Given the description of an element on the screen output the (x, y) to click on. 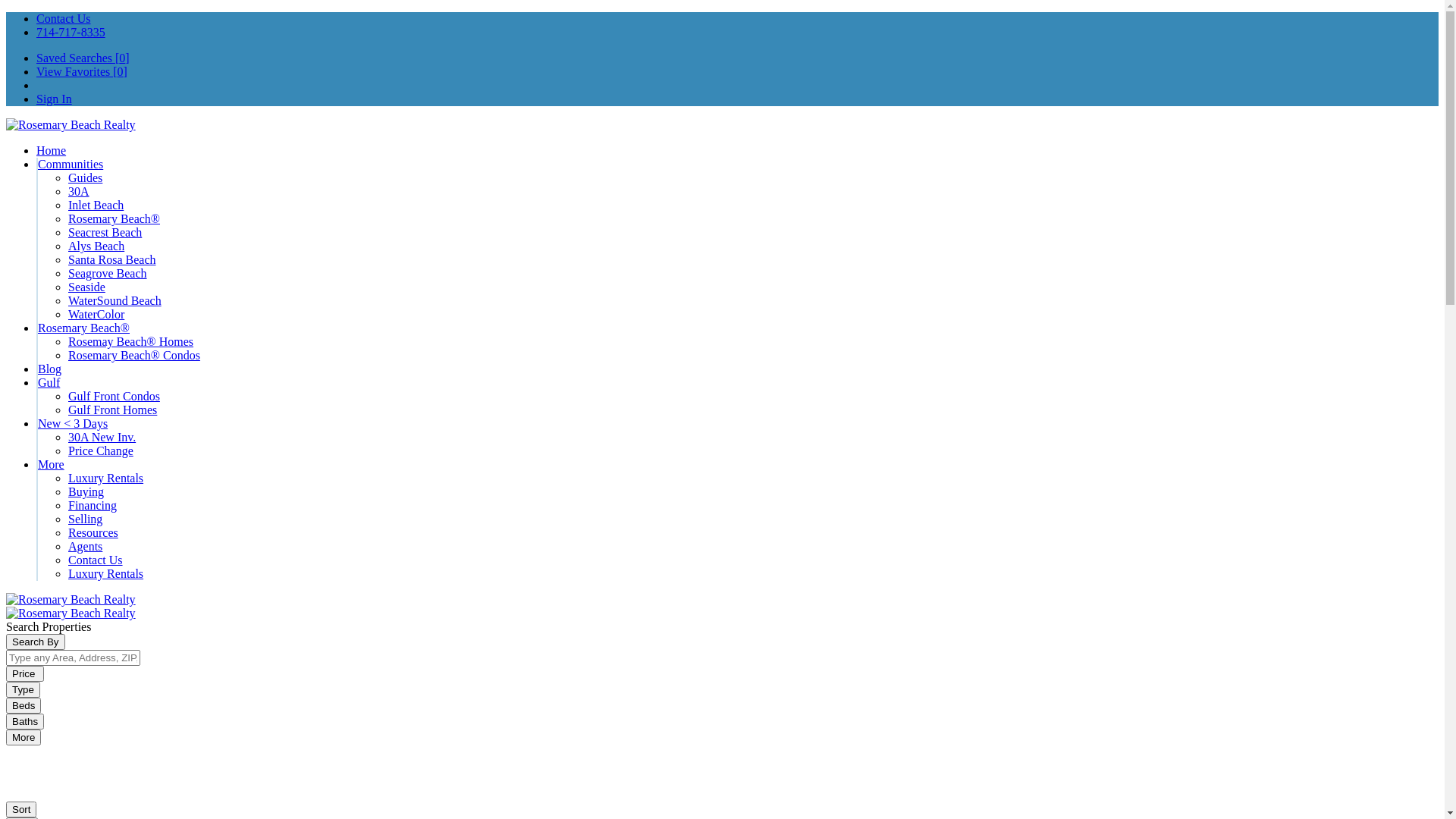
Sign In Element type: text (54, 98)
Seacrest Beach Element type: text (104, 231)
30A New Inv. Element type: text (101, 436)
View Favorites [0] Element type: text (81, 71)
Price  Element type: text (24, 673)
Type Element type: text (23, 689)
Gulf Front Homes Element type: text (112, 409)
More Element type: text (50, 464)
Seaside Element type: text (86, 286)
Contact Us Element type: text (95, 559)
Seagrove Beach Element type: text (107, 272)
Gulf Front Condos Element type: text (114, 395)
Home Element type: text (50, 150)
Financing Element type: text (92, 504)
Resources Element type: text (93, 532)
Luxury Rentals Element type: text (105, 573)
714-717-8335 Element type: text (70, 31)
Blog Element type: text (49, 368)
Beds Element type: text (23, 705)
Selling Element type: text (85, 518)
Luxury Rentals Element type: text (105, 477)
Santa Rosa Beach Element type: text (112, 259)
Buying Element type: text (85, 491)
Sort Element type: text (21, 809)
Communities Element type: text (70, 163)
Price Change Element type: text (100, 450)
WaterSound Beach Element type: text (114, 300)
Alys Beach Element type: text (96, 245)
New < 3 Days Element type: text (72, 423)
Baths Element type: text (24, 721)
Search By Element type: text (35, 641)
More Element type: text (23, 737)
Saved Searches [0] Element type: text (82, 57)
WaterColor Element type: text (96, 313)
Gulf Element type: text (48, 382)
Inlet Beach Element type: text (95, 204)
Agents Element type: text (85, 545)
Guides Element type: text (85, 177)
30A Element type: text (78, 191)
Contact Us Element type: text (63, 18)
